Given the description of an element on the screen output the (x, y) to click on. 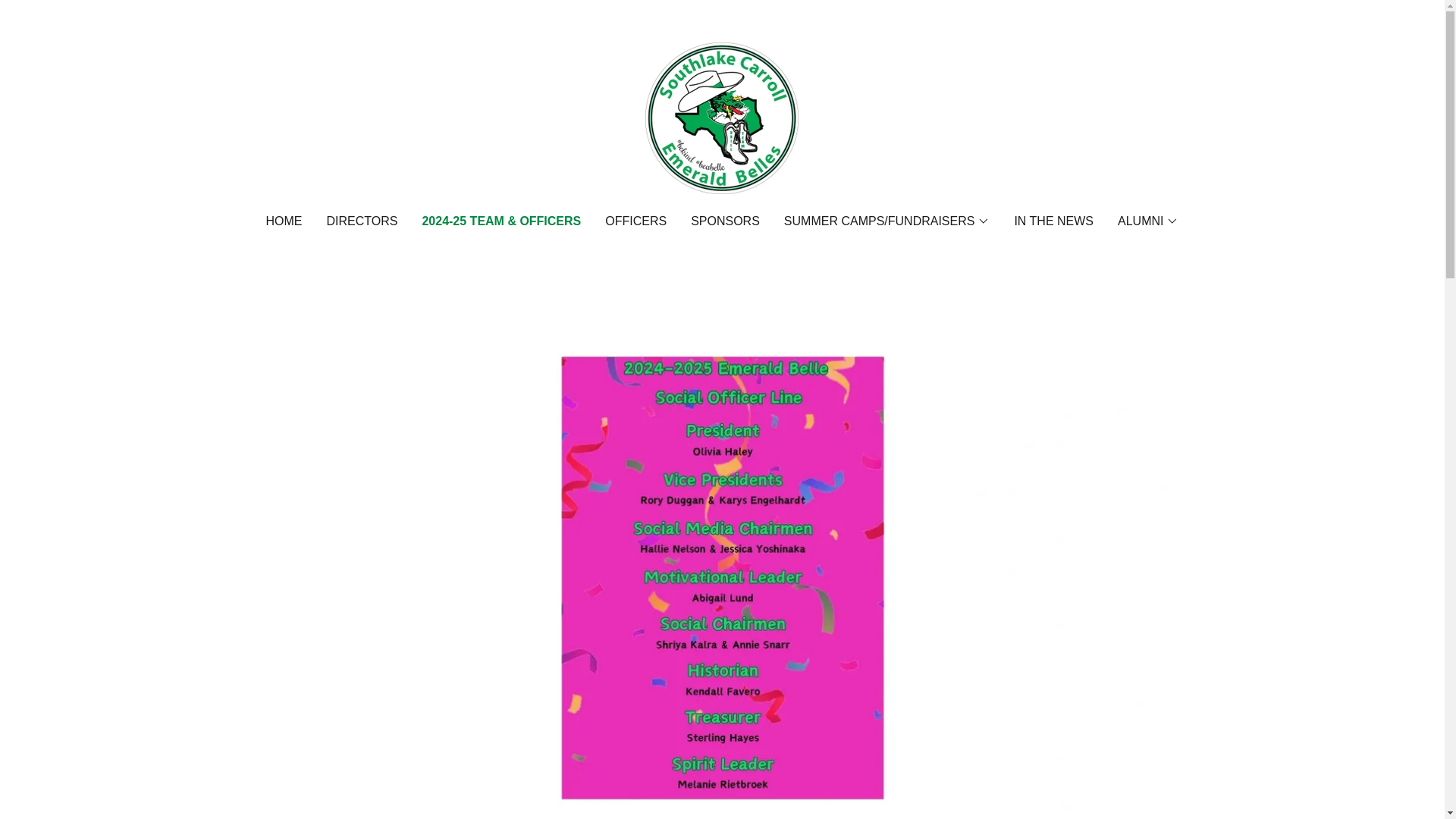
IN THE NEWS (1053, 221)
HOME (282, 221)
Emerald Belles (721, 117)
ALUMNI (1147, 221)
OFFICERS (635, 221)
DIRECTORS (361, 221)
SPONSORS (724, 221)
